Given the description of an element on the screen output the (x, y) to click on. 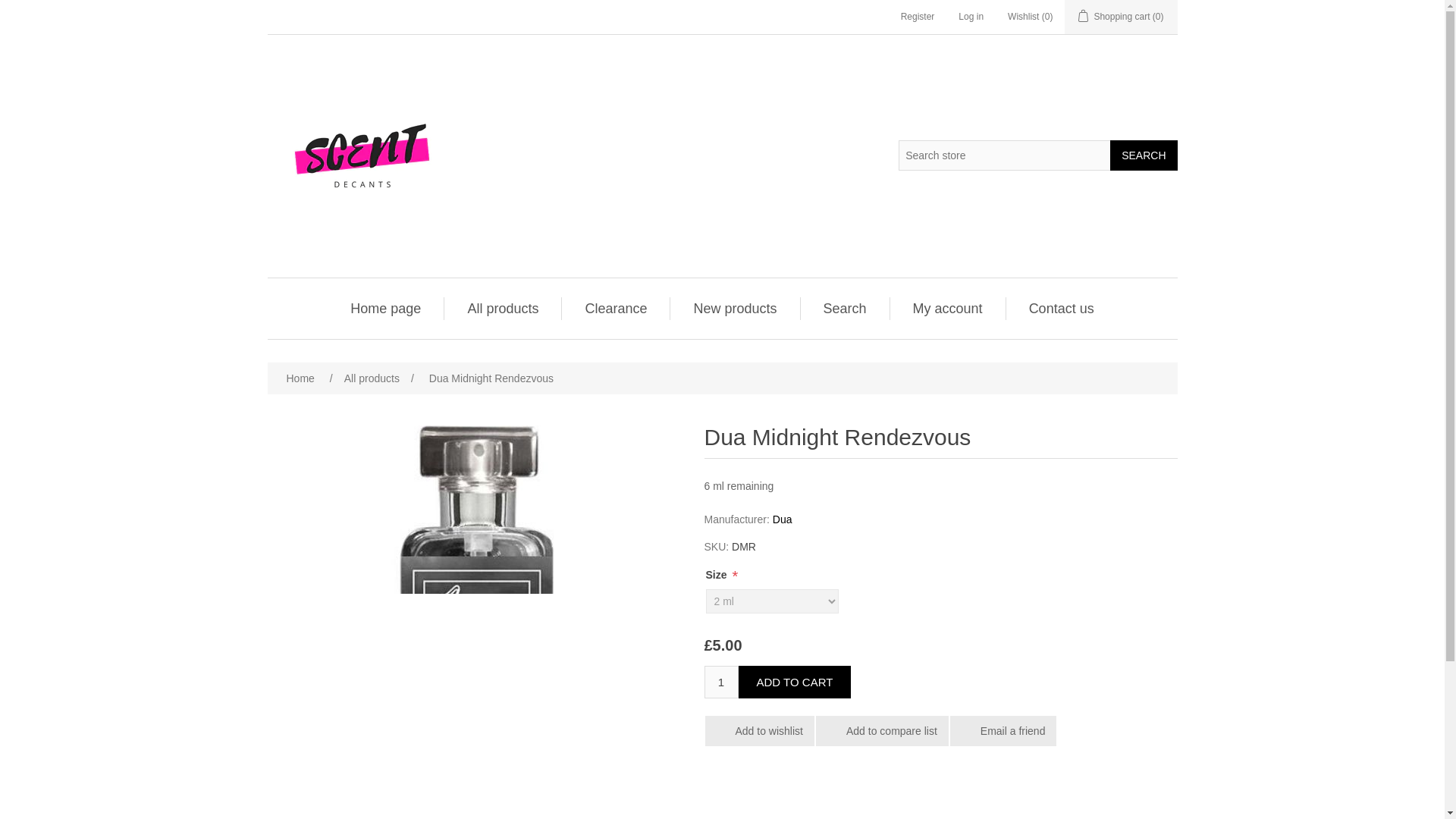
Clearance (614, 308)
Dua (782, 519)
Home (299, 378)
Home page (385, 308)
Add to compare list (882, 730)
Add to wishlist (758, 730)
SEARCH (1142, 154)
My account (947, 308)
Email a friend (1003, 730)
All products (503, 308)
